Given the description of an element on the screen output the (x, y) to click on. 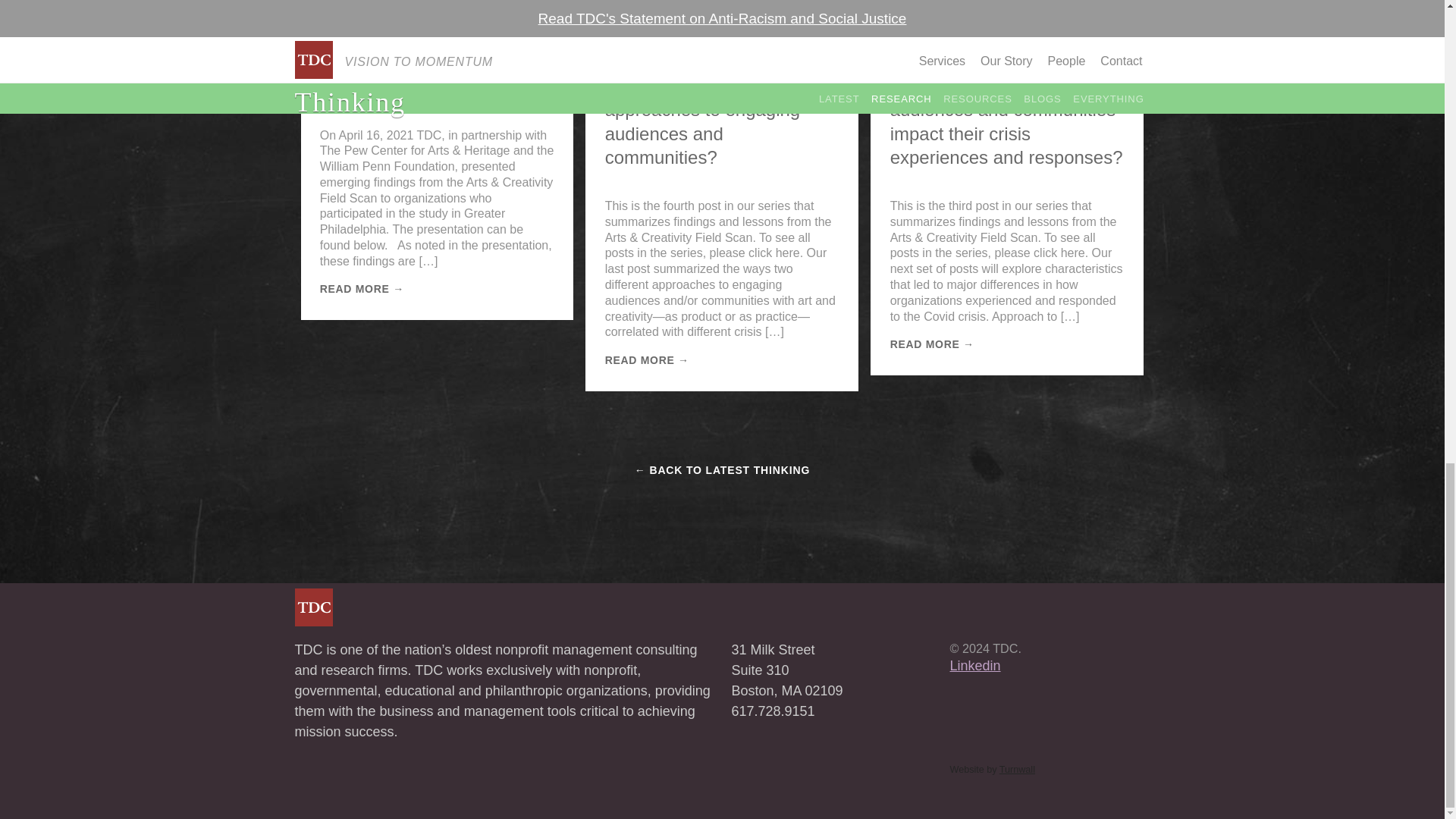
Linkedin (974, 665)
Turnwall (1016, 769)
